Given the description of an element on the screen output the (x, y) to click on. 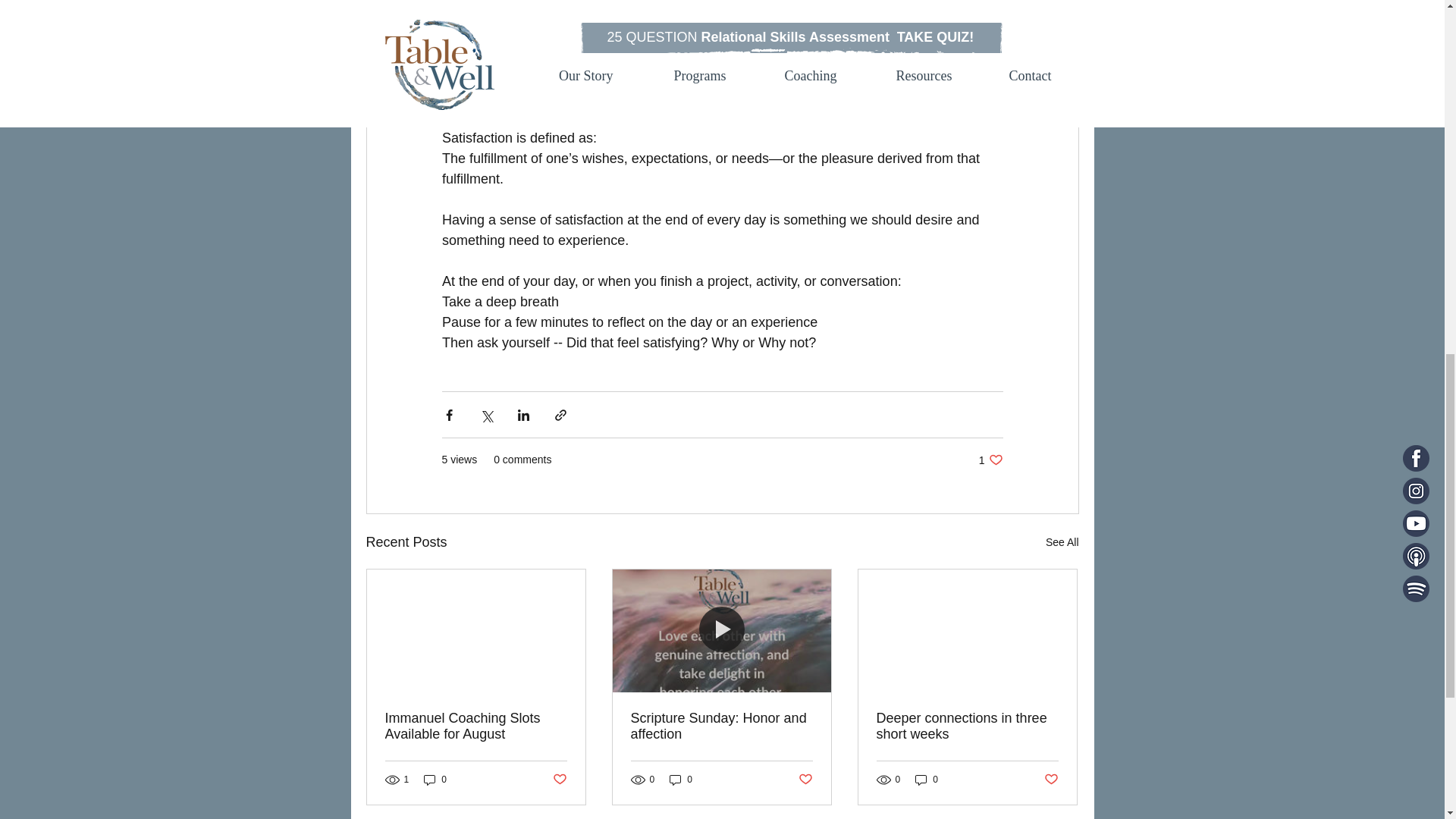
0 (990, 459)
Immanuel Coaching Slots Available for August (435, 779)
Scripture Sunday: Honor and affection (476, 726)
See All (721, 726)
0 (1061, 542)
Post not marked as liked (681, 779)
Deeper connections in three short weeks (558, 779)
Post not marked as liked (967, 726)
